Given the description of an element on the screen output the (x, y) to click on. 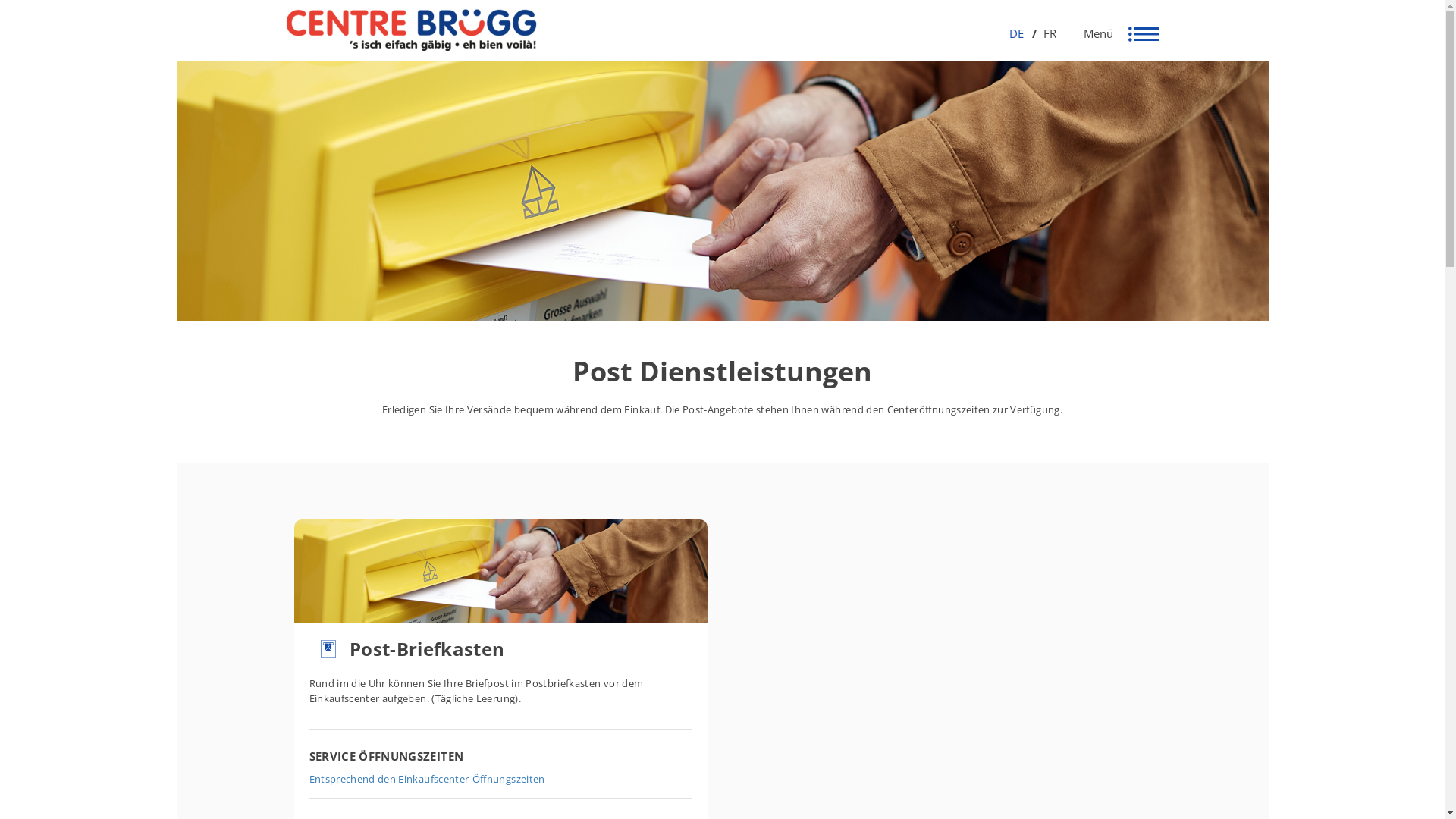
FR Element type: text (1044, 32)
DE Element type: text (1016, 32)
